Given the description of an element on the screen output the (x, y) to click on. 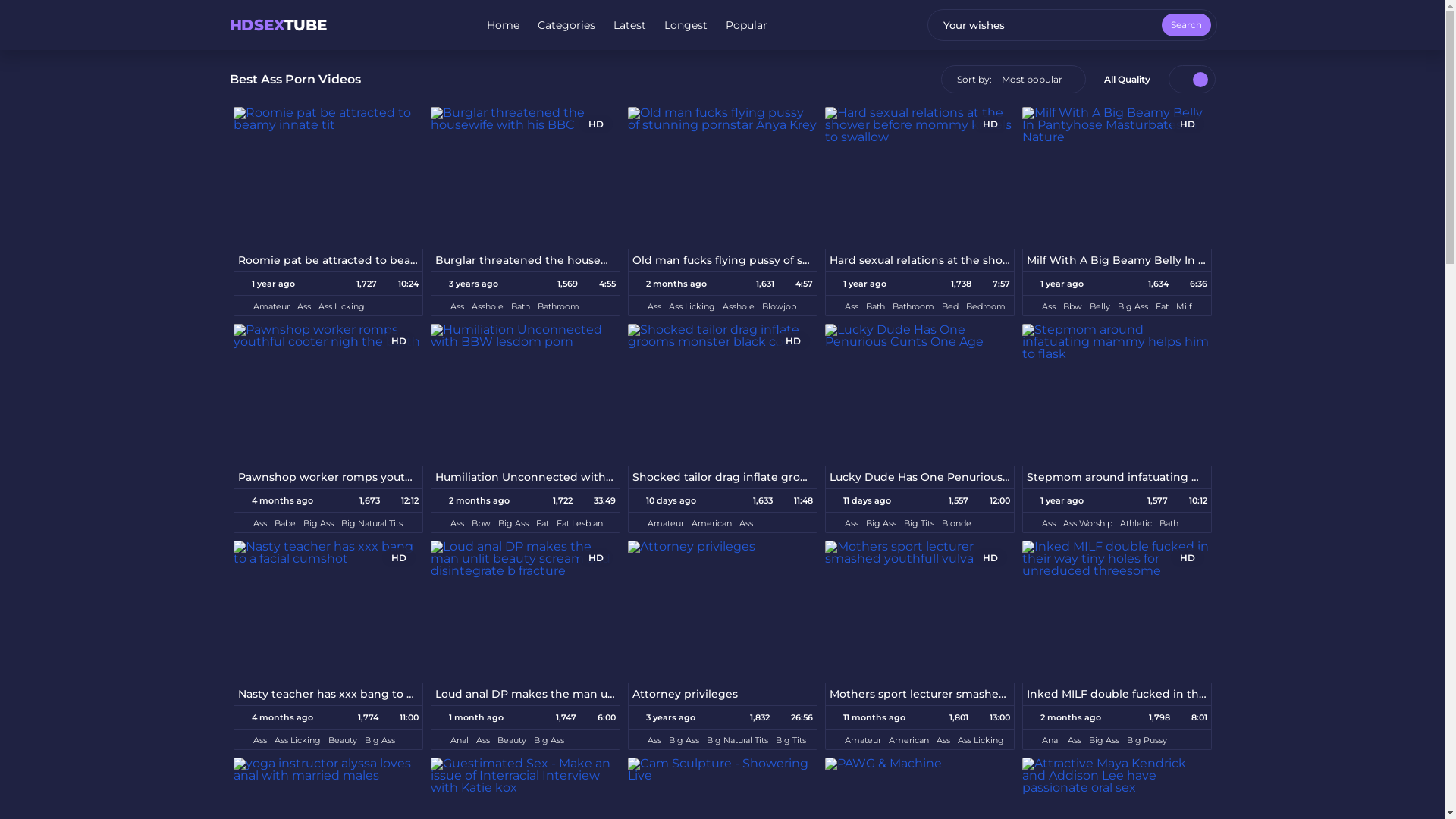
Latest Element type: text (629, 24)
Ass Licking Element type: text (297, 740)
Stepmom around infatuating mammy helps him to flask Element type: text (1116, 477)
Big Ass Element type: text (512, 523)
Ass Licking Element type: text (341, 306)
HD Element type: text (919, 611)
Big Ass Element type: text (379, 740)
Ass Element type: text (303, 306)
Attorney privileges Element type: text (721, 694)
Bathroom Element type: text (557, 306)
Humiliation Unconnected with BBW lesdom porn Element type: text (524, 477)
Asshole Element type: text (737, 306)
Beauty Element type: text (511, 740)
Bath Element type: text (520, 306)
Blowjob Element type: text (778, 306)
Big Tits Element type: text (790, 740)
Ass Element type: text (851, 306)
HD Element type: text (328, 611)
Categories Element type: text (566, 24)
Ass Element type: text (482, 740)
Search Element type: text (1186, 24)
Lucky Dude Has One Penurious Cunts One Age Element type: text (919, 477)
Burglar threatened the housewife with his BBC Element type: text (524, 259)
HD Element type: text (919, 177)
Ass Element type: text (1048, 523)
Ass Element type: text (851, 523)
Ass Element type: text (654, 740)
Babe Element type: text (284, 523)
Ass Licking Element type: text (980, 740)
Big Ass Element type: text (318, 523)
Ass Element type: text (259, 740)
HD Element type: text (525, 611)
Ass Worship Element type: text (1087, 523)
HD Element type: text (328, 394)
Big Ass Element type: text (548, 740)
Home Element type: text (502, 24)
Ass Element type: text (1048, 306)
Beauty Element type: text (341, 740)
Milf Element type: text (1183, 306)
Search X Videos Element type: hover (1071, 24)
Most popular Element type: text (1031, 78)
Popular Element type: text (746, 24)
Athletic Element type: text (1135, 523)
Ass Element type: text (1074, 740)
Belly Element type: text (1098, 306)
HD Element type: text (525, 177)
Ass Licking Element type: text (691, 306)
Fat Lesbian Element type: text (579, 523)
Longest Element type: text (685, 24)
Bed Element type: text (949, 306)
HDSEXTUBE Element type: text (277, 24)
Pawnshop worker romps youthful cooter nigh the berth Element type: text (327, 477)
HD Element type: text (1116, 611)
Mothers sport lecturer smashed youthfull vulva Element type: text (919, 694)
Old man fucks flying pussy of stunning pornstar Anya Krey Element type: text (721, 259)
Amateur Element type: text (271, 306)
Big Pussy Element type: text (1146, 740)
Ass Element type: text (457, 306)
Amateur Element type: text (862, 740)
Big Tits Element type: text (918, 523)
Bath Element type: text (875, 306)
Bathroom Element type: text (912, 306)
Blonde Element type: text (956, 523)
Anal Element type: text (1050, 740)
Ass Element type: text (654, 306)
HD Element type: text (1116, 177)
Ass Element type: text (259, 523)
Shocked tailor drag inflate grooms monster black cock Element type: text (721, 477)
Ass Element type: text (457, 523)
Big Natural Tits Element type: text (737, 740)
American Element type: text (711, 523)
Big Ass Element type: text (1103, 740)
Fat Element type: text (541, 523)
Ass Element type: text (942, 740)
Bbw Element type: text (480, 523)
HD Element type: text (722, 394)
Bbw Element type: text (1072, 306)
Big Ass Element type: text (881, 523)
Roomie pat be attracted to beamy innate tit Element type: text (327, 259)
Fat Element type: text (1161, 306)
Big Natural Tits Element type: text (371, 523)
Bath Element type: text (1167, 523)
Amateur Element type: text (665, 523)
Asshole Element type: text (487, 306)
Bedroom Element type: text (985, 306)
Anal Element type: text (459, 740)
Ass Element type: text (745, 523)
American Element type: text (908, 740)
Nasty teacher has xxx bang to a facial cumshot Element type: text (327, 694)
Big Ass Element type: text (683, 740)
Big Ass Element type: text (1132, 306)
